Given the description of an element on the screen output the (x, y) to click on. 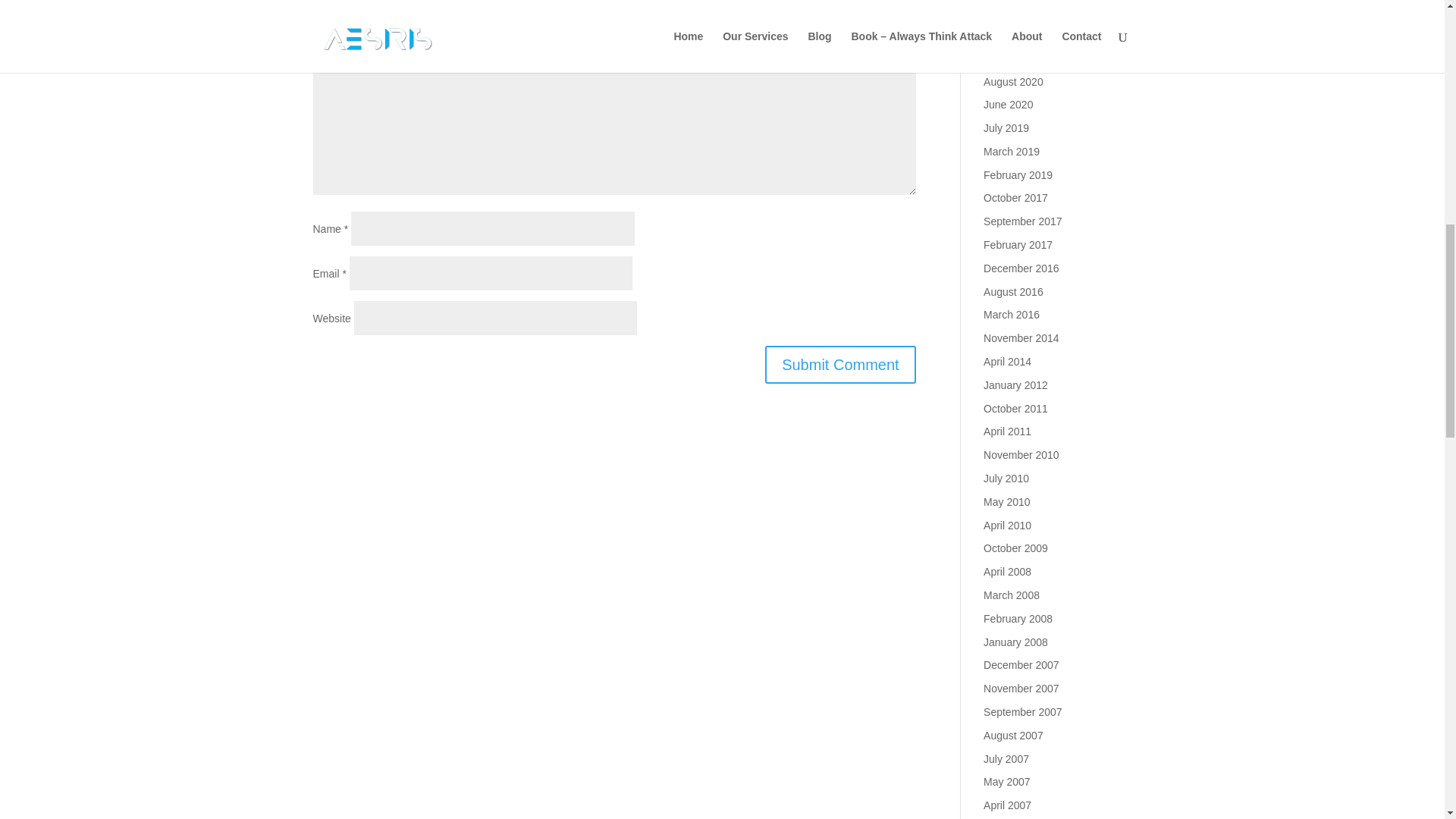
February 2017 (1018, 244)
June 2020 (1008, 104)
Submit Comment (840, 364)
March 2019 (1011, 151)
July 2024 (1006, 58)
Johnny (1000, 1)
February 2019 (1018, 174)
July 2019 (1006, 128)
August 2020 (1013, 81)
October 2017 (1016, 197)
